Given the description of an element on the screen output the (x, y) to click on. 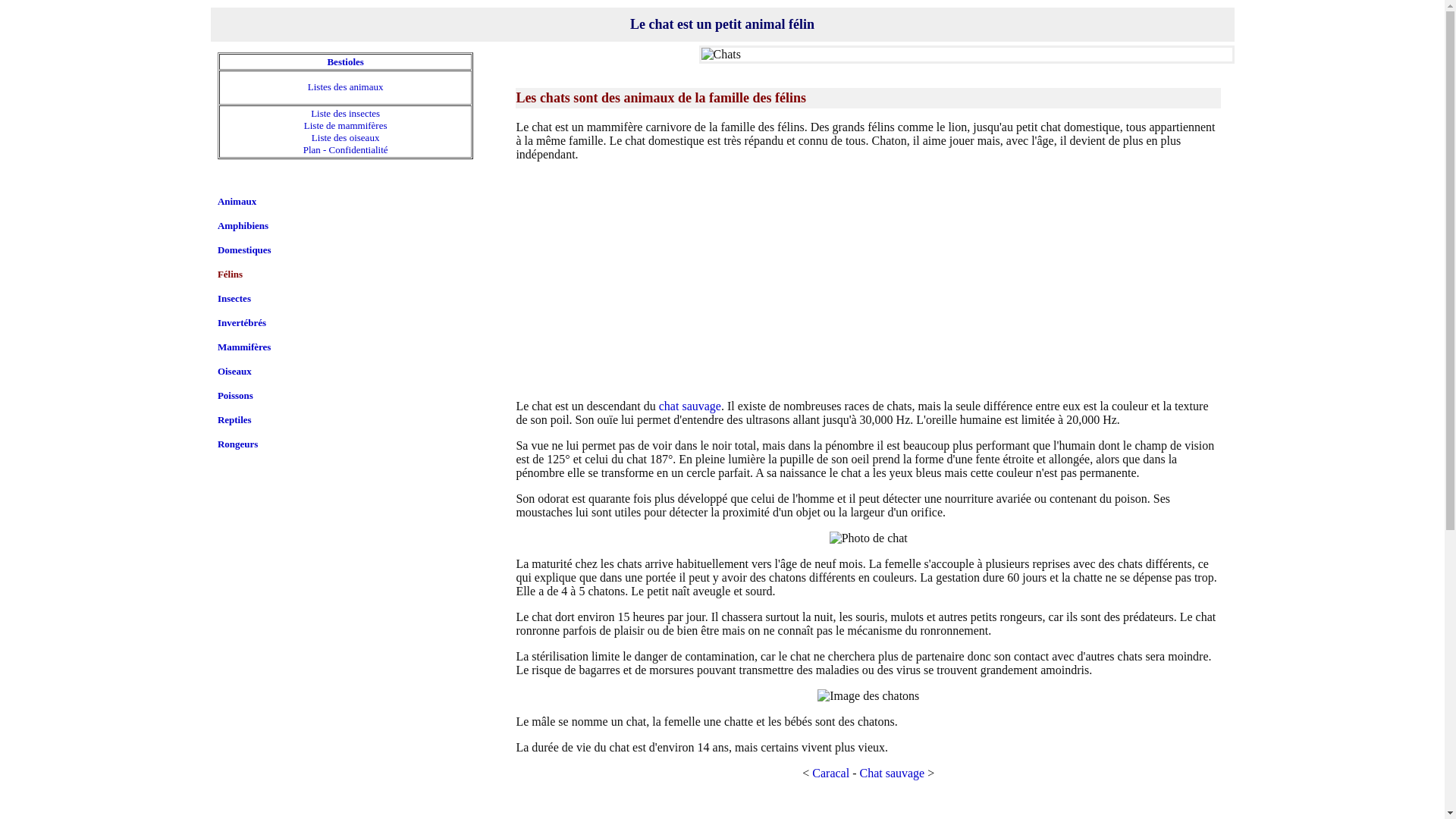
Domestiques Element type: text (244, 249)
Poissons Element type: text (235, 395)
Insectes Element type: text (234, 298)
Listes des animaux Element type: text (345, 86)
Animaux Element type: text (236, 201)
Rongeurs Element type: text (237, 443)
Caracal Element type: text (830, 772)
chat sauvage Element type: text (689, 405)
Liste des insectes Element type: text (344, 113)
Amphibiens Element type: text (242, 225)
Reptiles Element type: text (234, 419)
Liste des oiseaux Element type: text (345, 137)
Chat sauvage Element type: text (891, 772)
Oiseaux Element type: text (234, 370)
Bestioles Element type: text (344, 61)
